Given the description of an element on the screen output the (x, y) to click on. 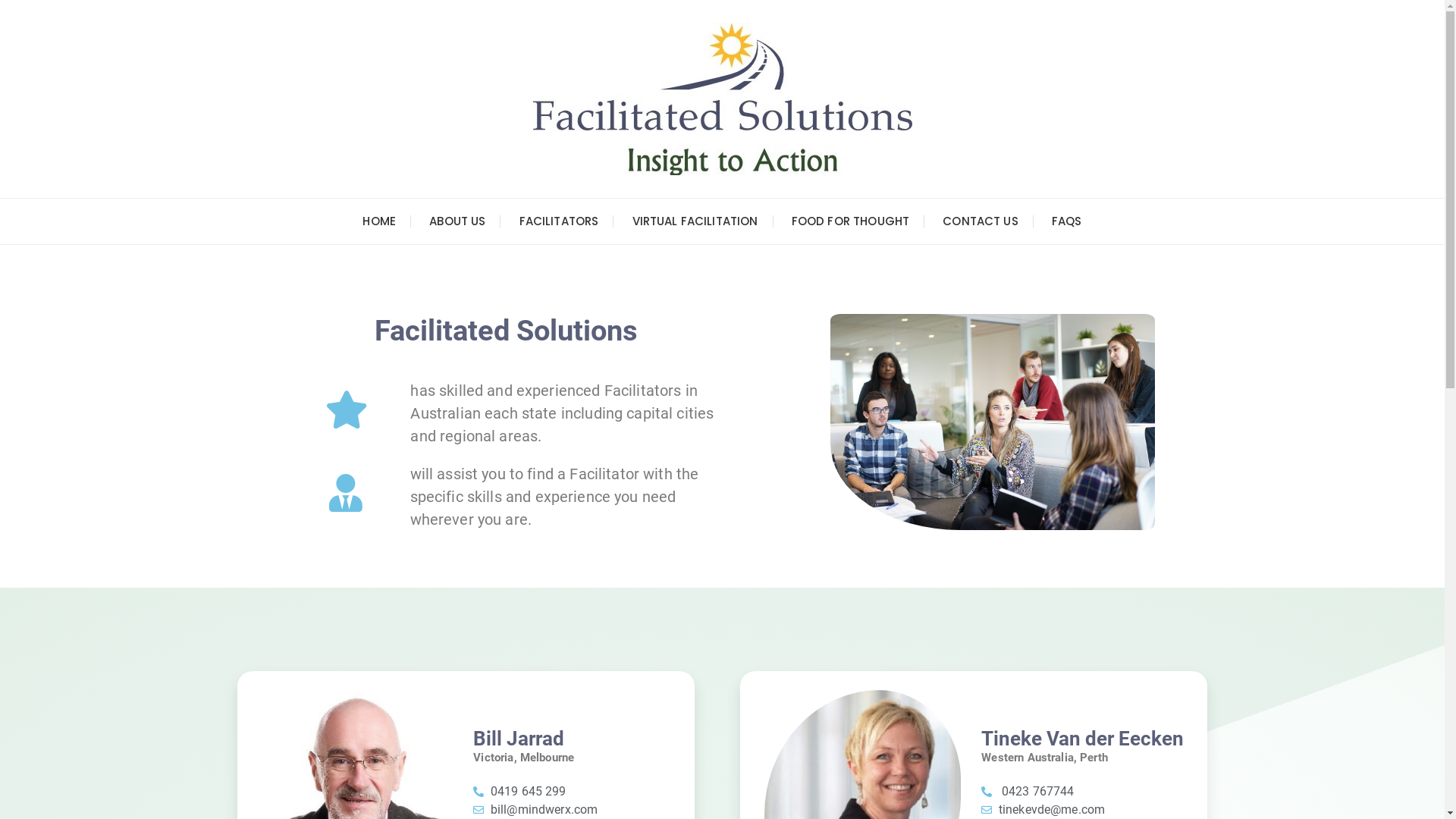
HOME Element type: text (379, 221)
FOOD FOR THOUGHT Element type: text (850, 221)
CONTACT US Element type: text (980, 221)
FACILITATORS Element type: text (559, 221)
FAQS Element type: text (1066, 221)
VIRTUAL FACILITATION Element type: text (695, 221)
ABOUT US Element type: text (457, 221)
